Given the description of an element on the screen output the (x, y) to click on. 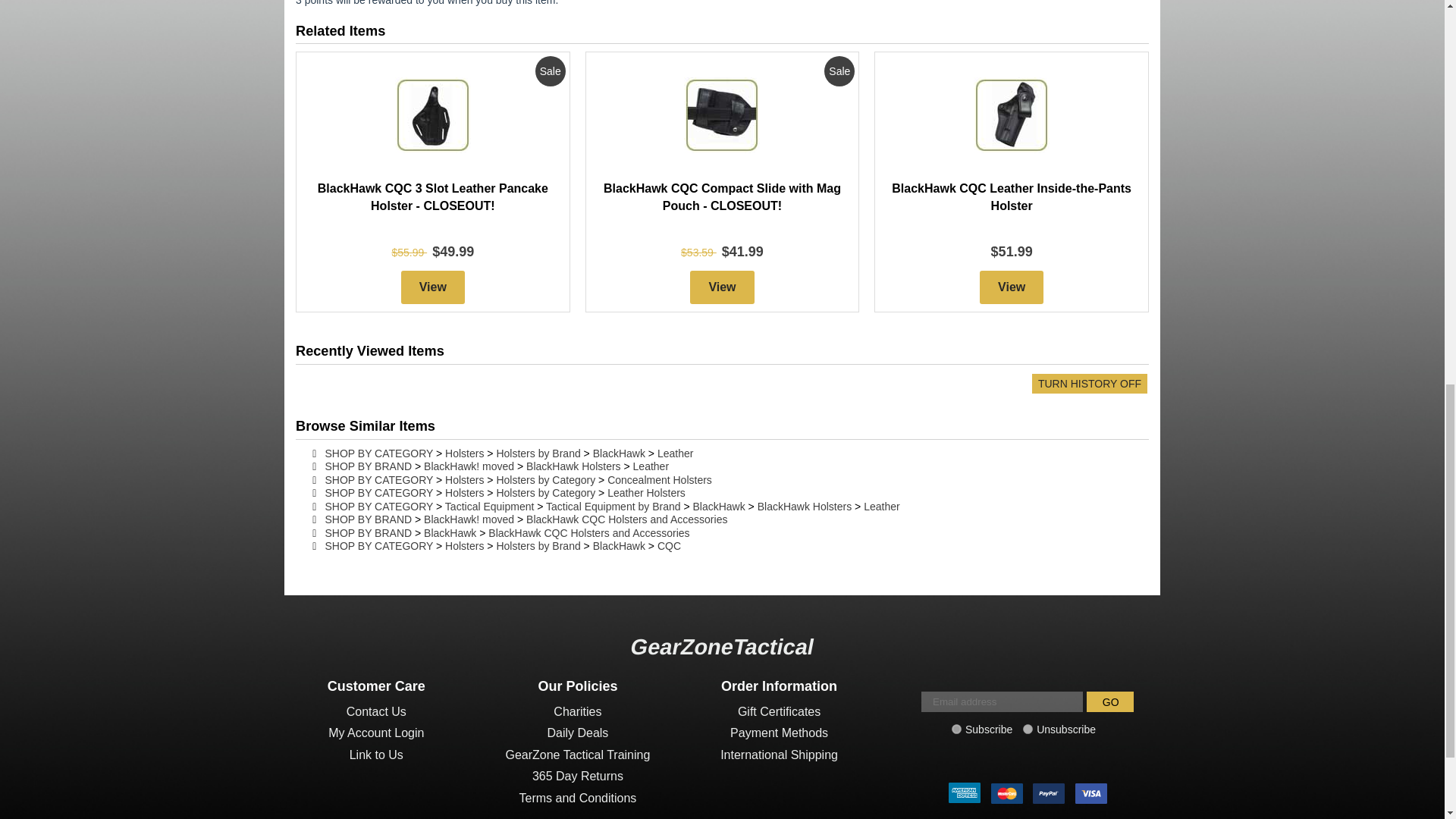
BlackHawk CQC 3 Slot Leather Pancake Holster - CLOSEOUT! (432, 196)
View (432, 287)
View (722, 287)
View (1011, 287)
1 (956, 728)
0 (1027, 728)
BlackHawk CQC Compact Slide with Mag Pouch - CLOSEOUT! (722, 196)
Turn History Off (1089, 383)
